Given the description of an element on the screen output the (x, y) to click on. 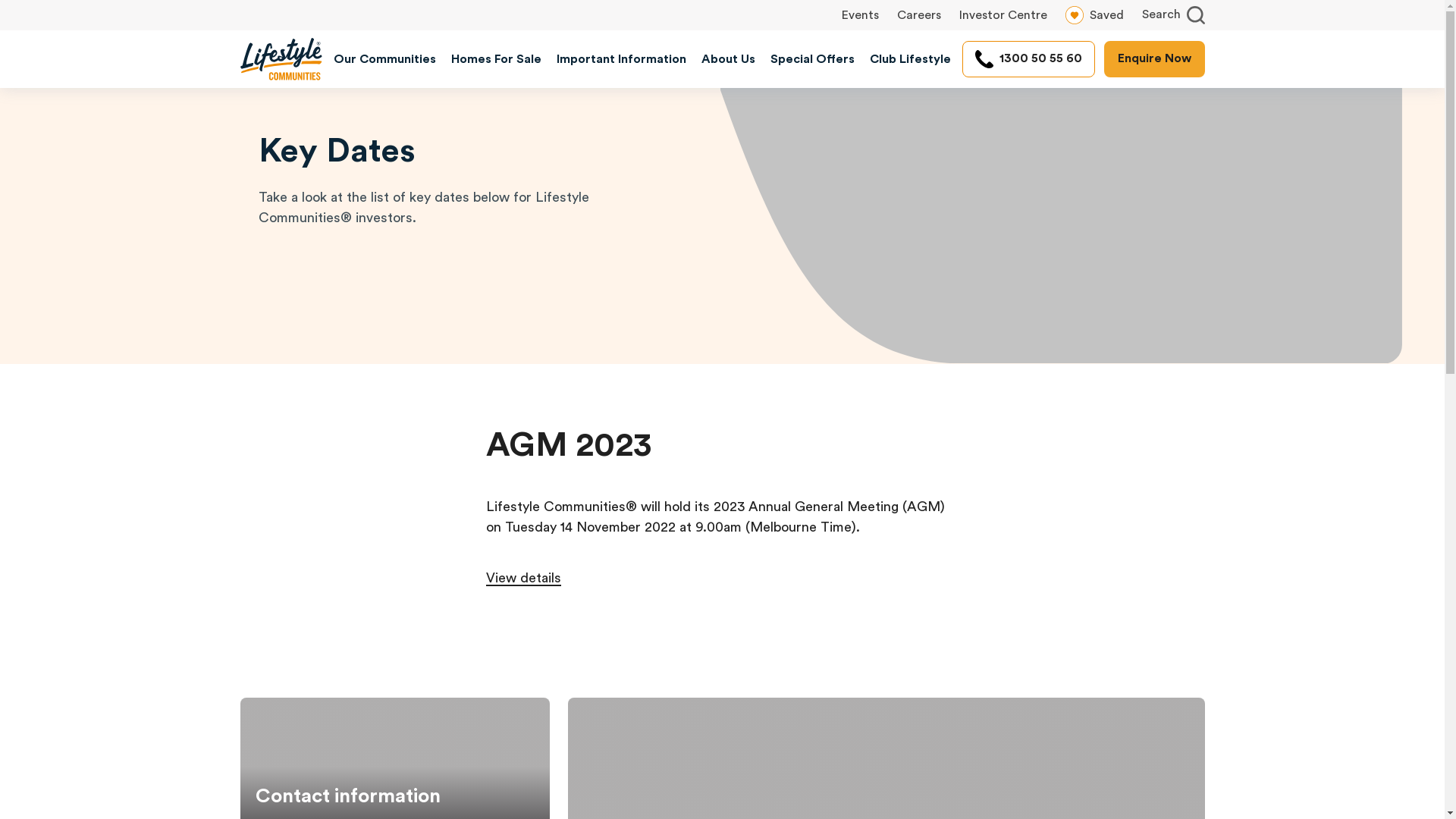
Our Communities Element type: text (384, 59)
Events Element type: text (859, 15)
About Us Element type: text (727, 59)
Saved Element type: text (1093, 15)
Enquire Now Element type: text (1154, 58)
Homes For Sale Element type: text (495, 59)
Important Information Element type: text (621, 59)
Club Lifestyle Element type: text (909, 59)
Careers Element type: text (918, 15)
Special Offers Element type: text (812, 59)
Investor Centre Element type: text (1002, 15)
Search Element type: text (1173, 15)
View details Element type: text (522, 578)
1300 50 55 60 Element type: text (1027, 58)
